Given the description of an element on the screen output the (x, y) to click on. 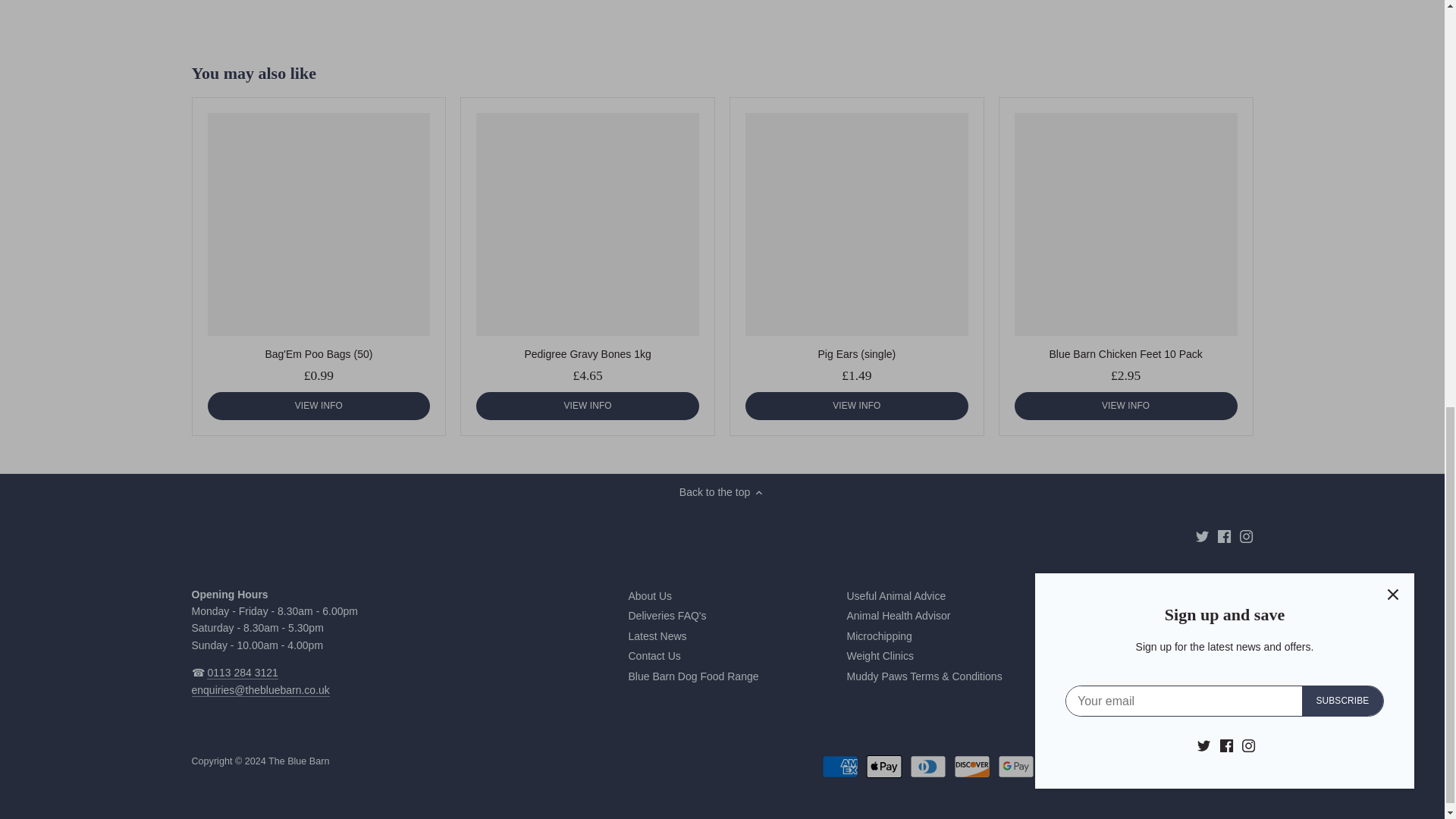
American Express (840, 766)
Instagram (1246, 535)
Facebook (1223, 535)
Apple Pay (884, 766)
Twitter (1201, 535)
